Given the description of an element on the screen output the (x, y) to click on. 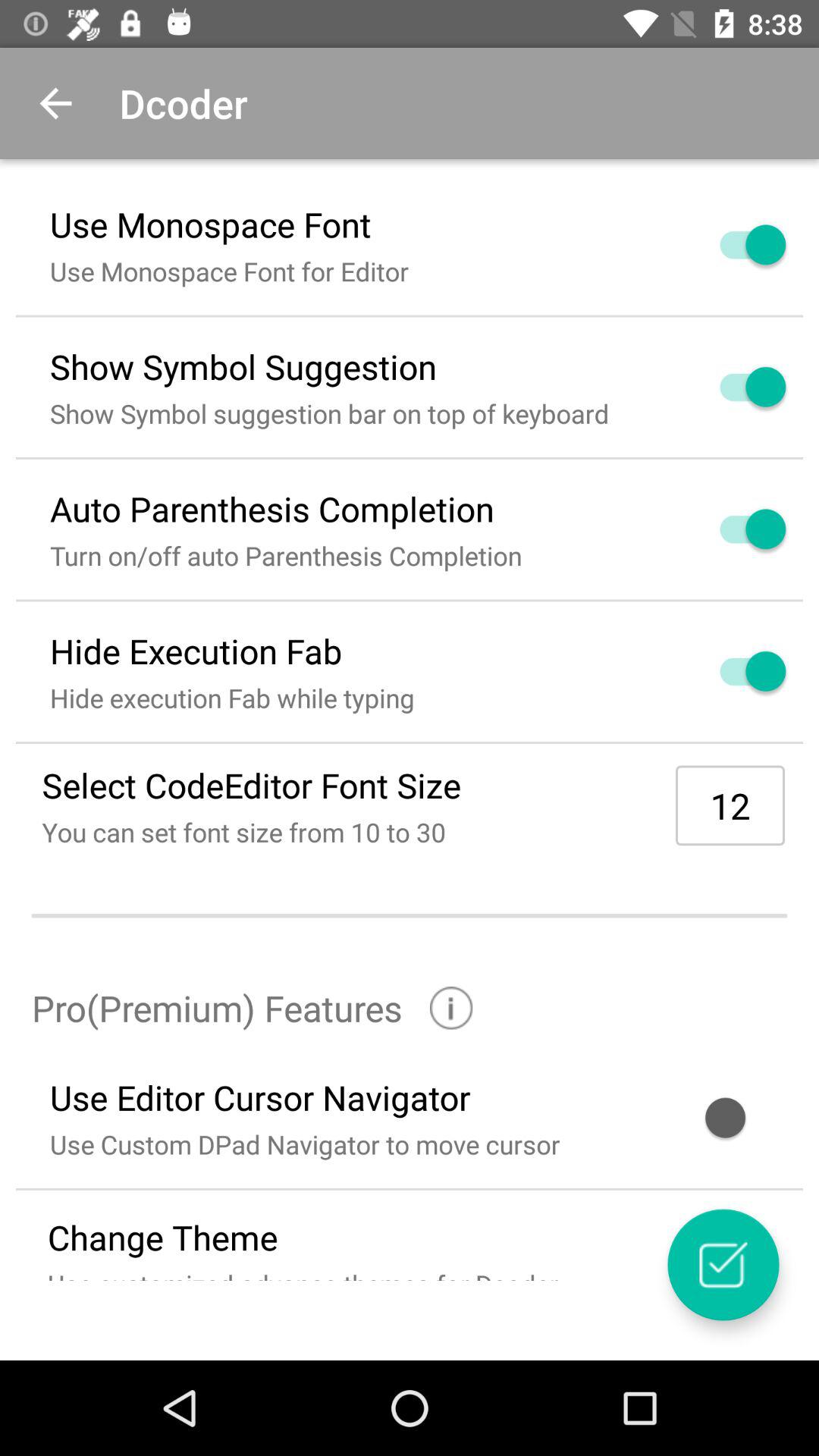
open hide execution fab (734, 671)
